Given the description of an element on the screen output the (x, y) to click on. 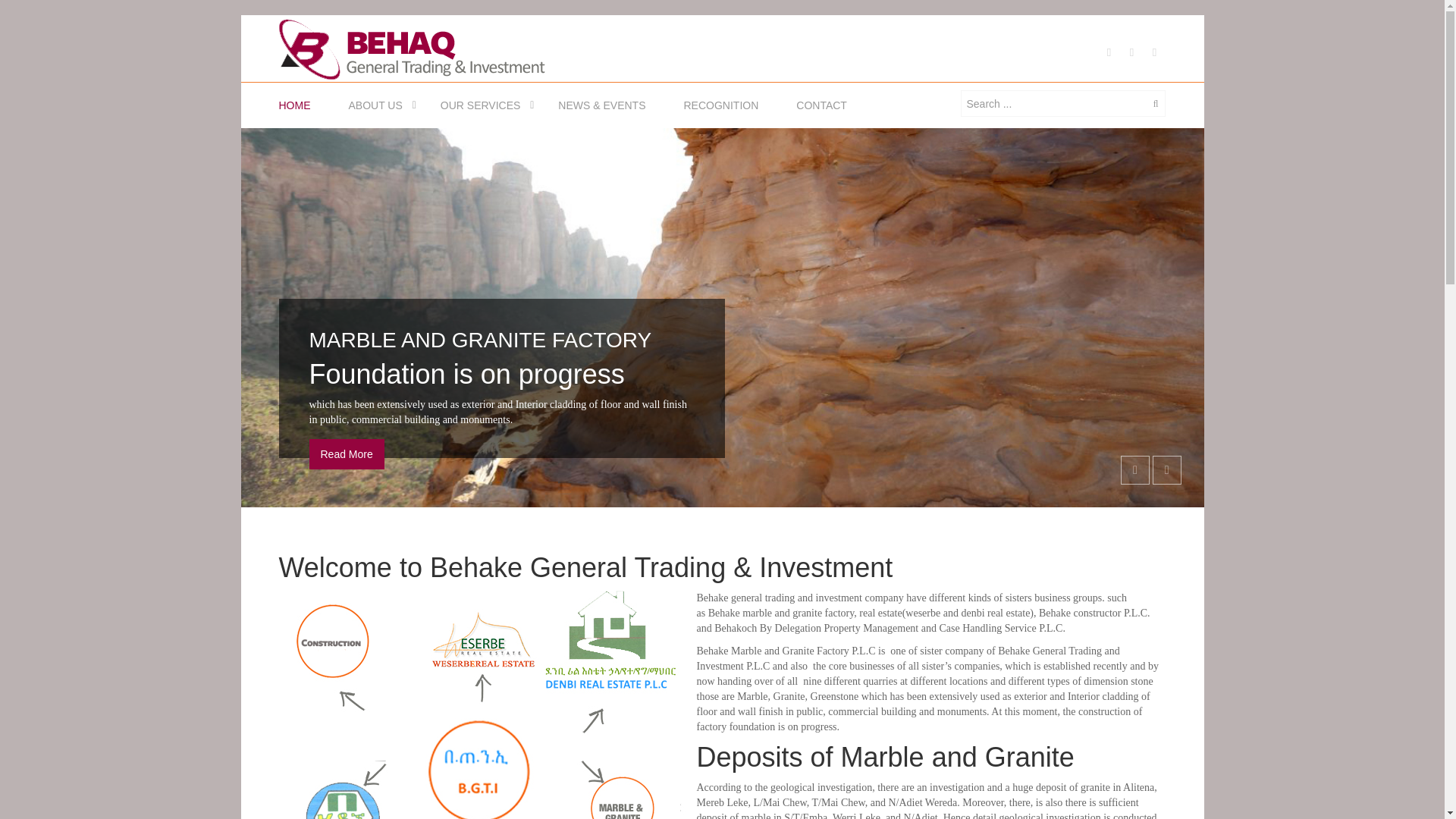
OUR SERVICES (480, 105)
HOME (298, 105)
CONTACT (821, 105)
ABOUT US (375, 105)
RECOGNITION (722, 105)
